Given the description of an element on the screen output the (x, y) to click on. 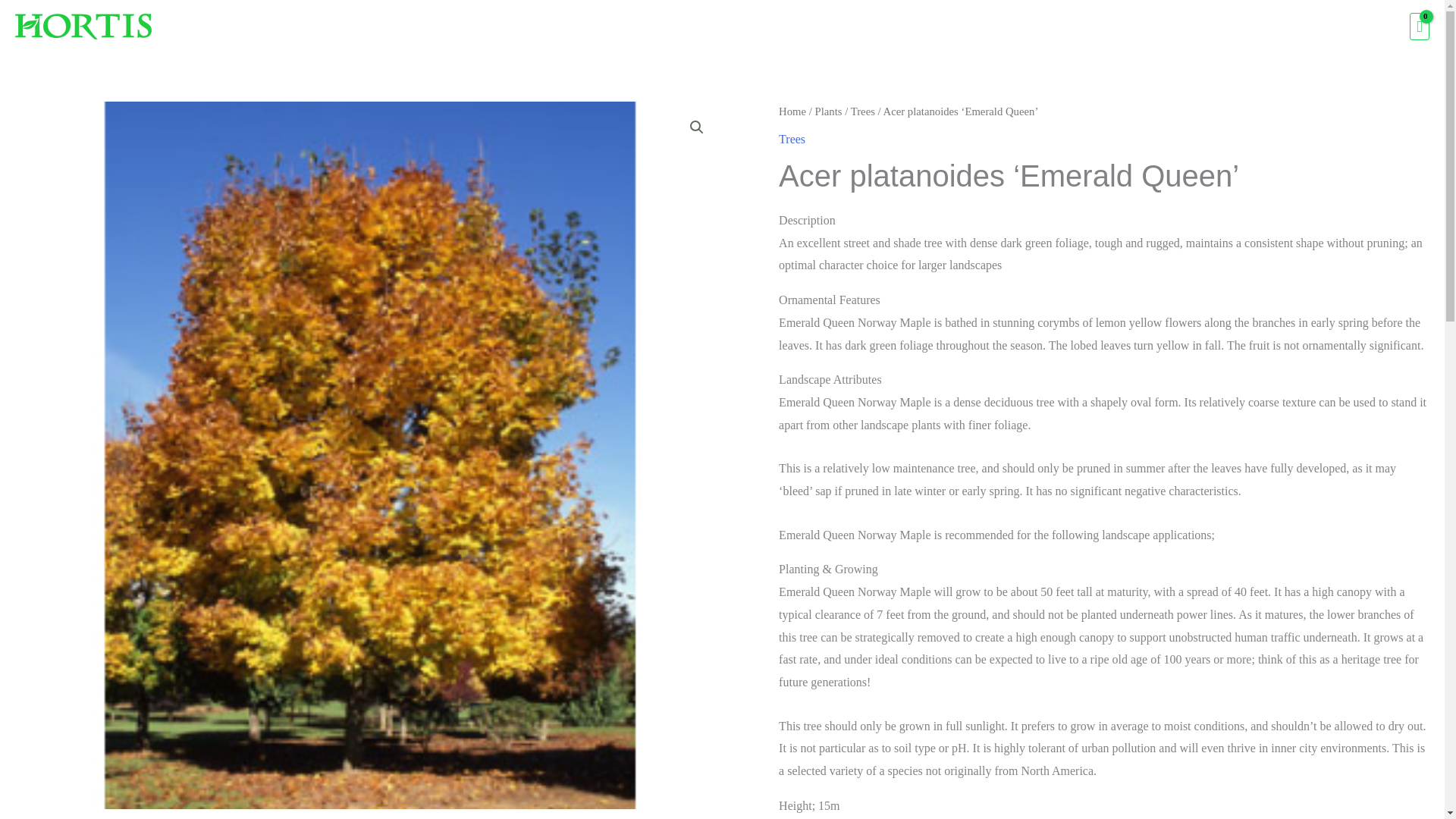
Info (1327, 26)
Bulk (1276, 26)
Plants (1061, 26)
Hardgoods (1136, 26)
Clothes (1216, 26)
